Given the description of an element on the screen output the (x, y) to click on. 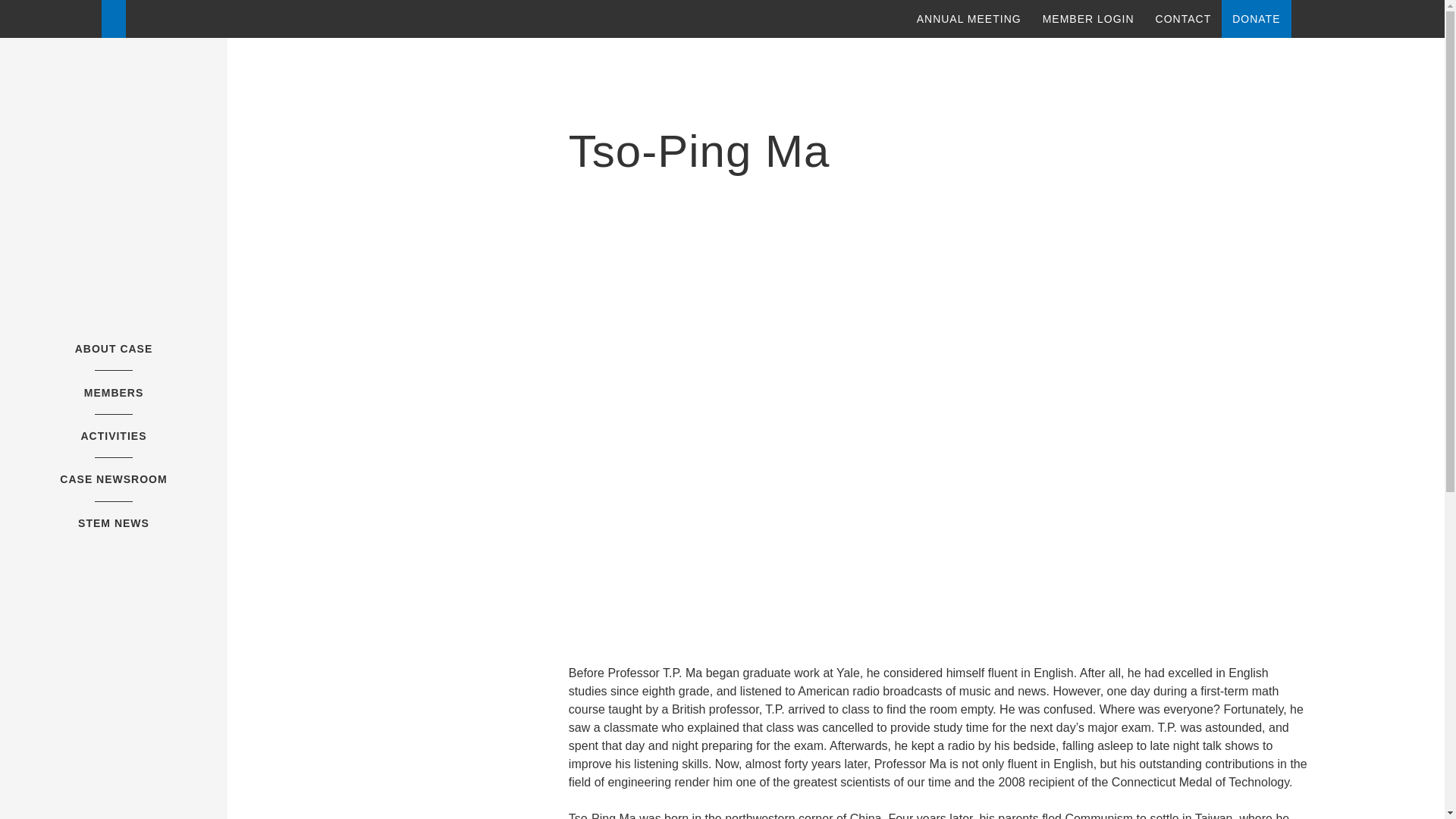
MEMBERS (114, 392)
MEMBER LOGIN (1088, 18)
ACTIVITIES (113, 435)
ABOUT CASE (113, 348)
STEM NEWS (113, 522)
DONATE (1255, 18)
CASE NEWSROOM (113, 479)
CONTACT (1183, 18)
ANNUAL MEETING (969, 18)
